Given the description of an element on the screen output the (x, y) to click on. 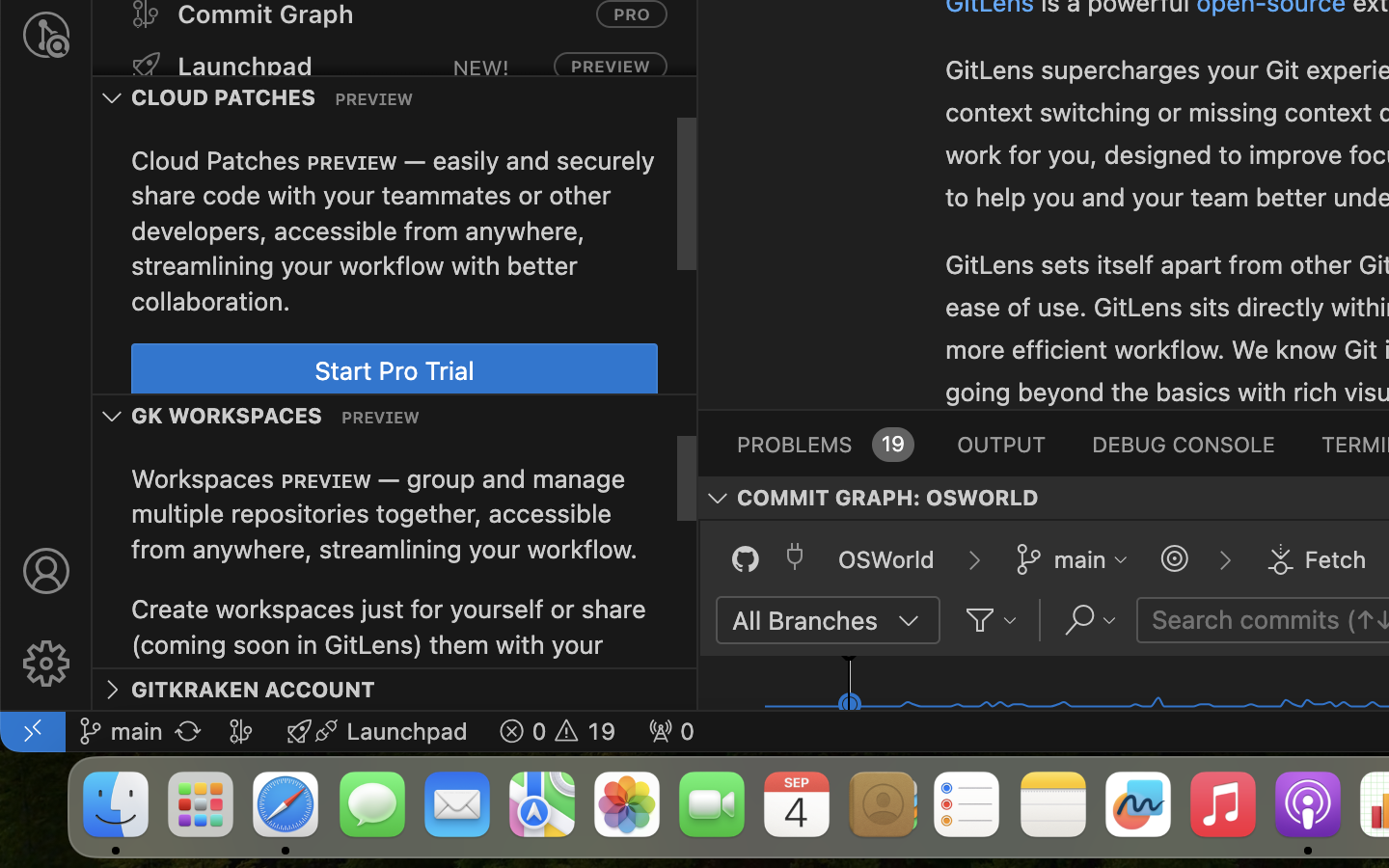
 Element type: AXGroup (46, 663)
6 yrs ago Element type: AXStaticText (1239, 305)
Launchpad   Element type: AXButton (376, 730)
 Element type: AXStaticText (1224, 559)
Use the interactive Element type: AXStaticText (1097, 51)
